Given the description of an element on the screen output the (x, y) to click on. 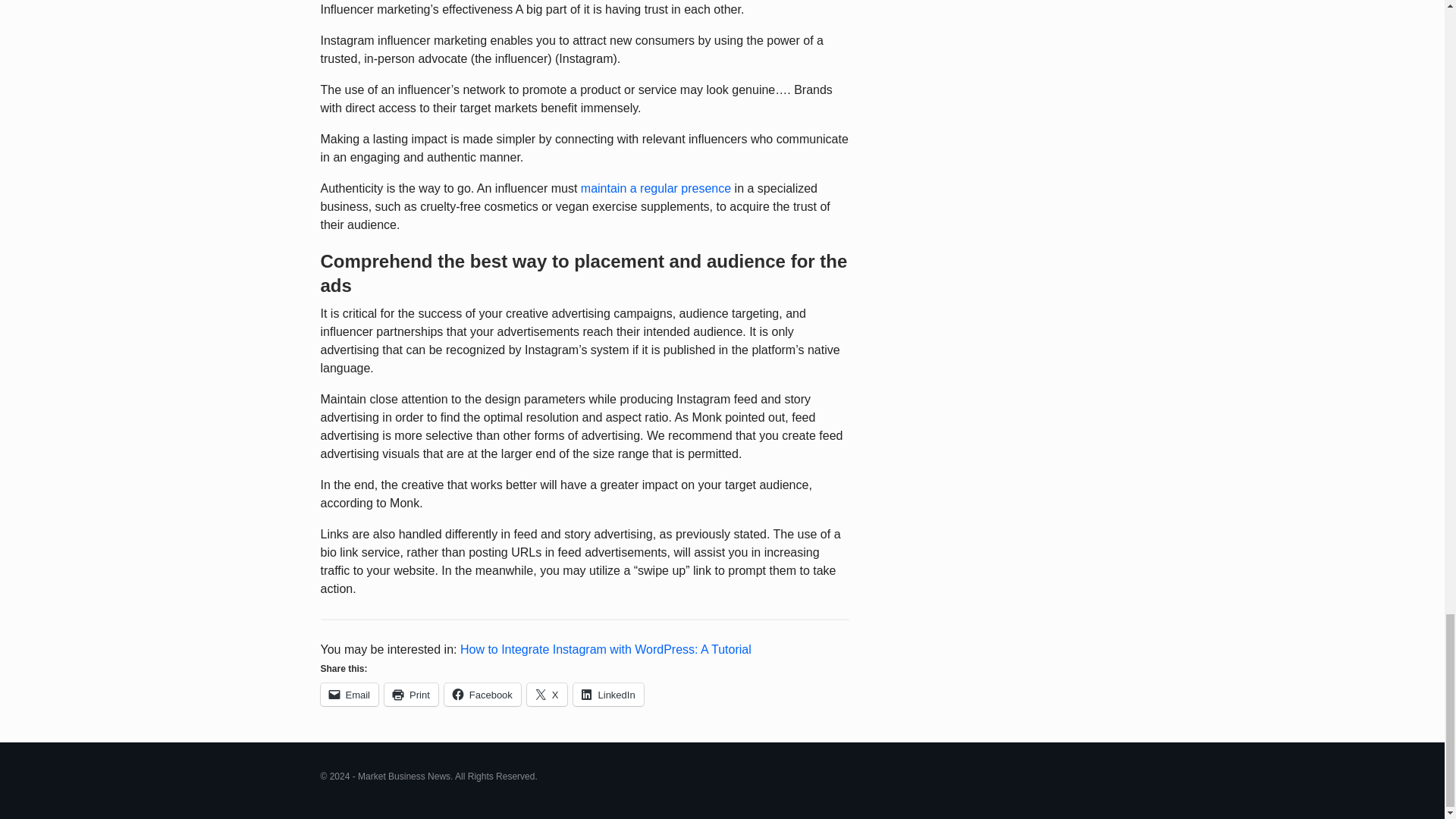
Click to share on LinkedIn (608, 694)
maintain a regular presence (655, 187)
Print (411, 694)
How to Integrate Instagram with WordPress: A Tutorial (605, 649)
Click to share on Facebook (482, 694)
Facebook (482, 694)
LinkedIn (608, 694)
Email (349, 694)
Click to share on X (547, 694)
Click to print (411, 694)
